Given the description of an element on the screen output the (x, y) to click on. 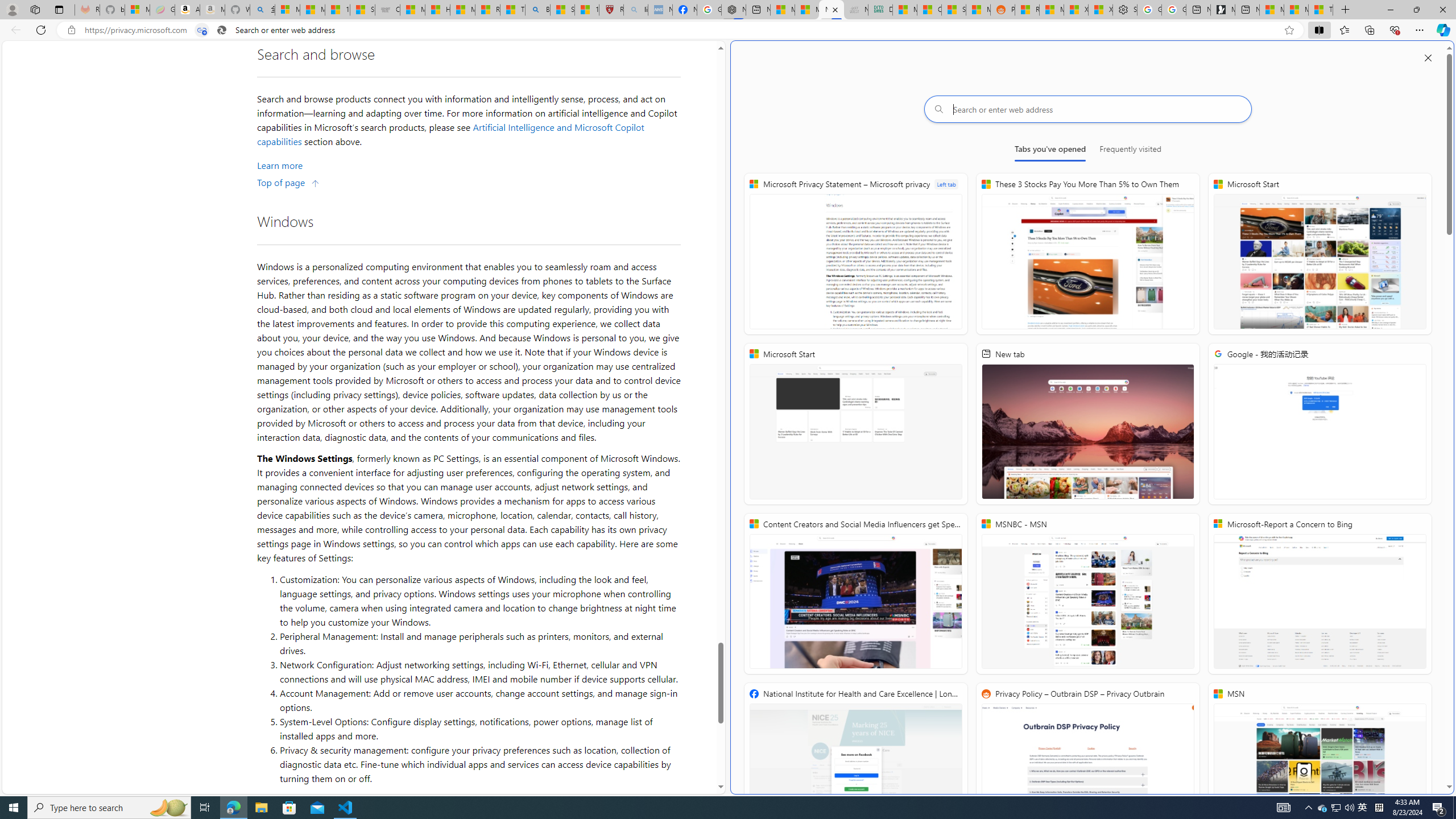
Learn More about Search and browse (279, 165)
Tabs in split screen (202, 29)
New split screen (830, 9)
R******* | Trusted Community Engagement and Contributions (1026, 9)
